Given the description of an element on the screen output the (x, y) to click on. 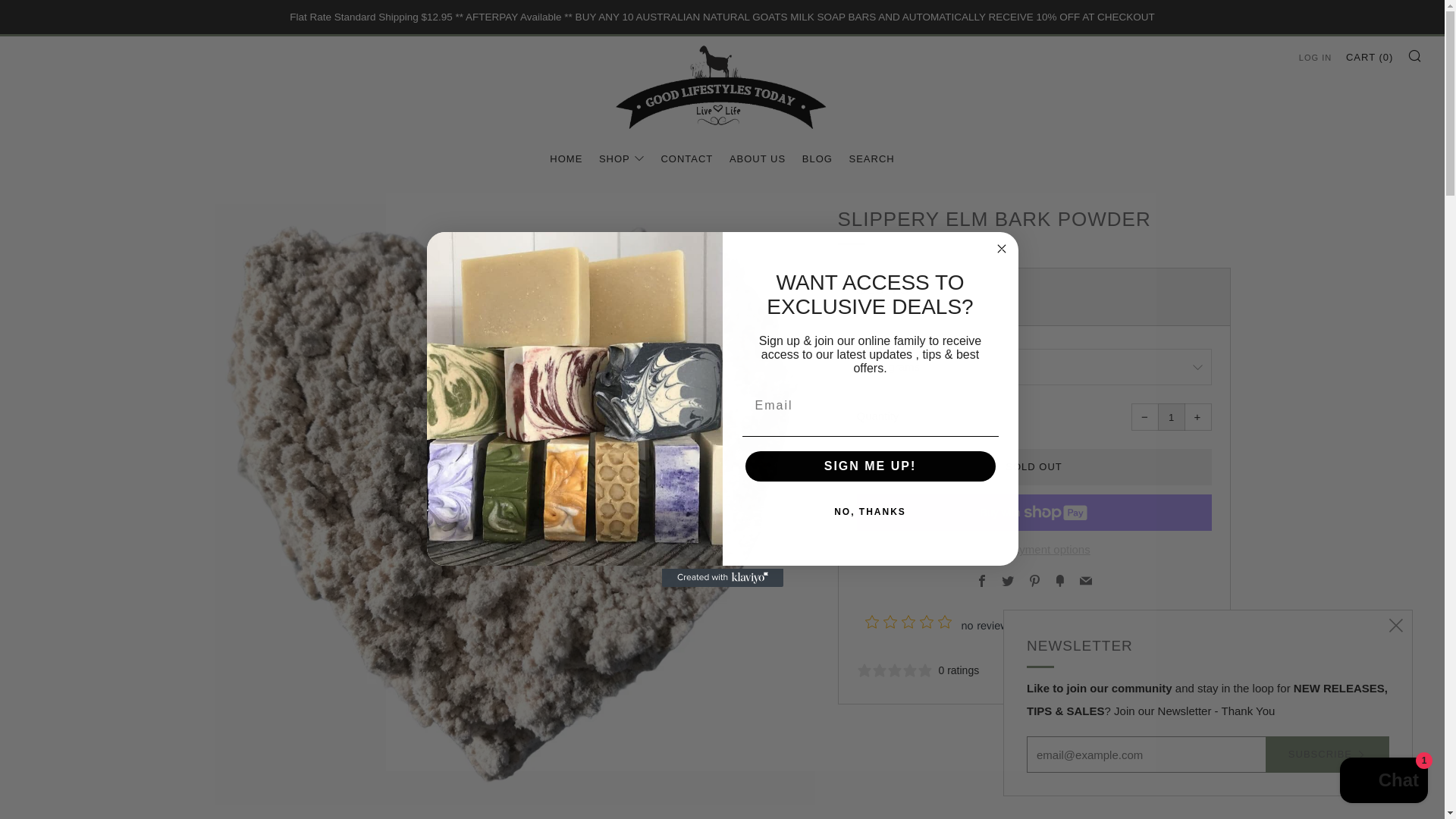
1 (1171, 416)
HOME (566, 159)
SHOP (621, 159)
Shopify online store chat (1383, 781)
